Given the description of an element on the screen output the (x, y) to click on. 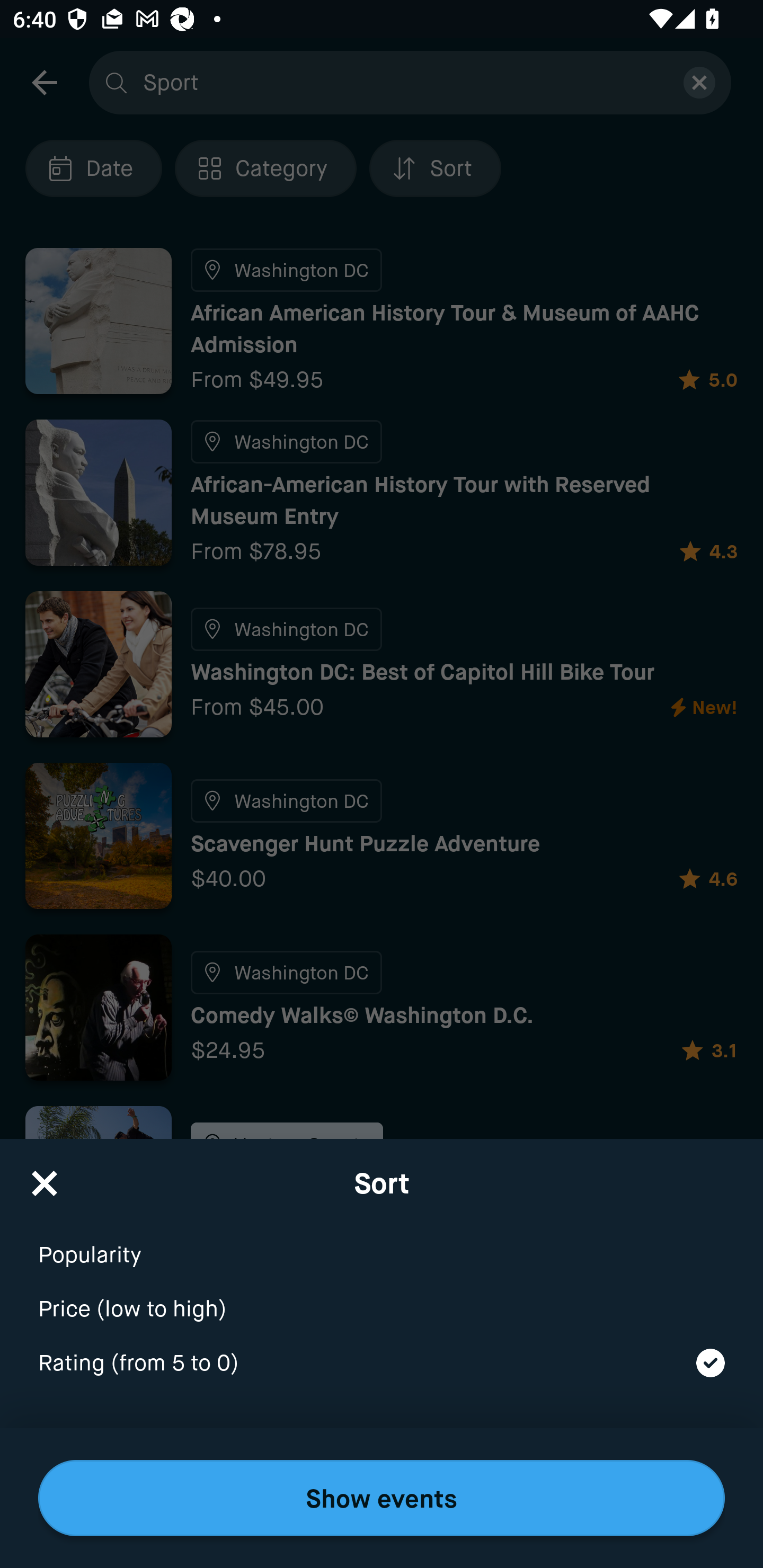
CloseButton (44, 1177)
Popularity (381, 1243)
Price (low to high) (381, 1297)
Rating (from 5 to 0) Selected Icon (381, 1362)
Show events (381, 1497)
